Given the description of an element on the screen output the (x, y) to click on. 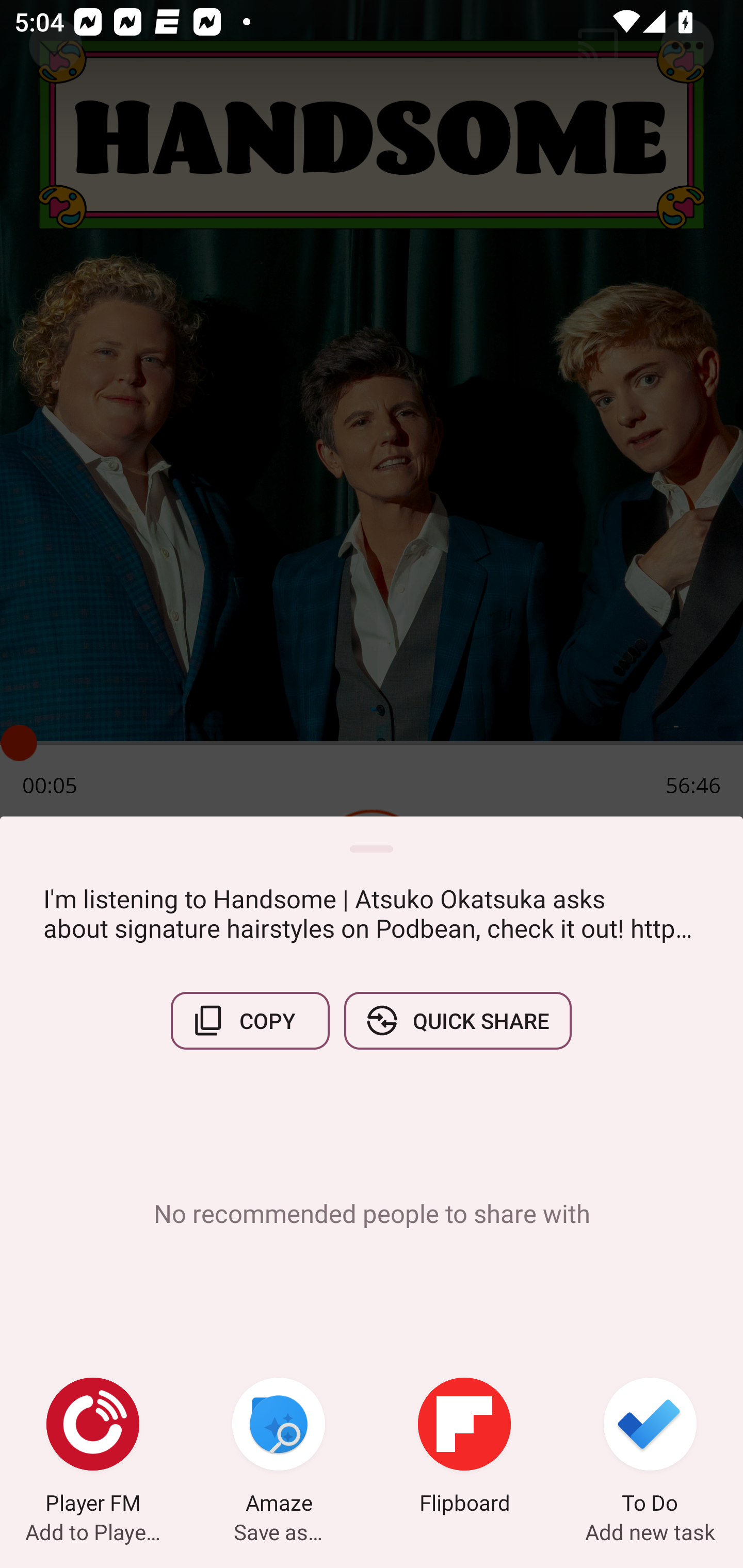
COPY (249, 1020)
QUICK SHARE (457, 1020)
Player FM Add to Player FM (92, 1448)
Amaze Save as… (278, 1448)
Flipboard (464, 1448)
To Do Add new task (650, 1448)
